Given the description of an element on the screen output the (x, y) to click on. 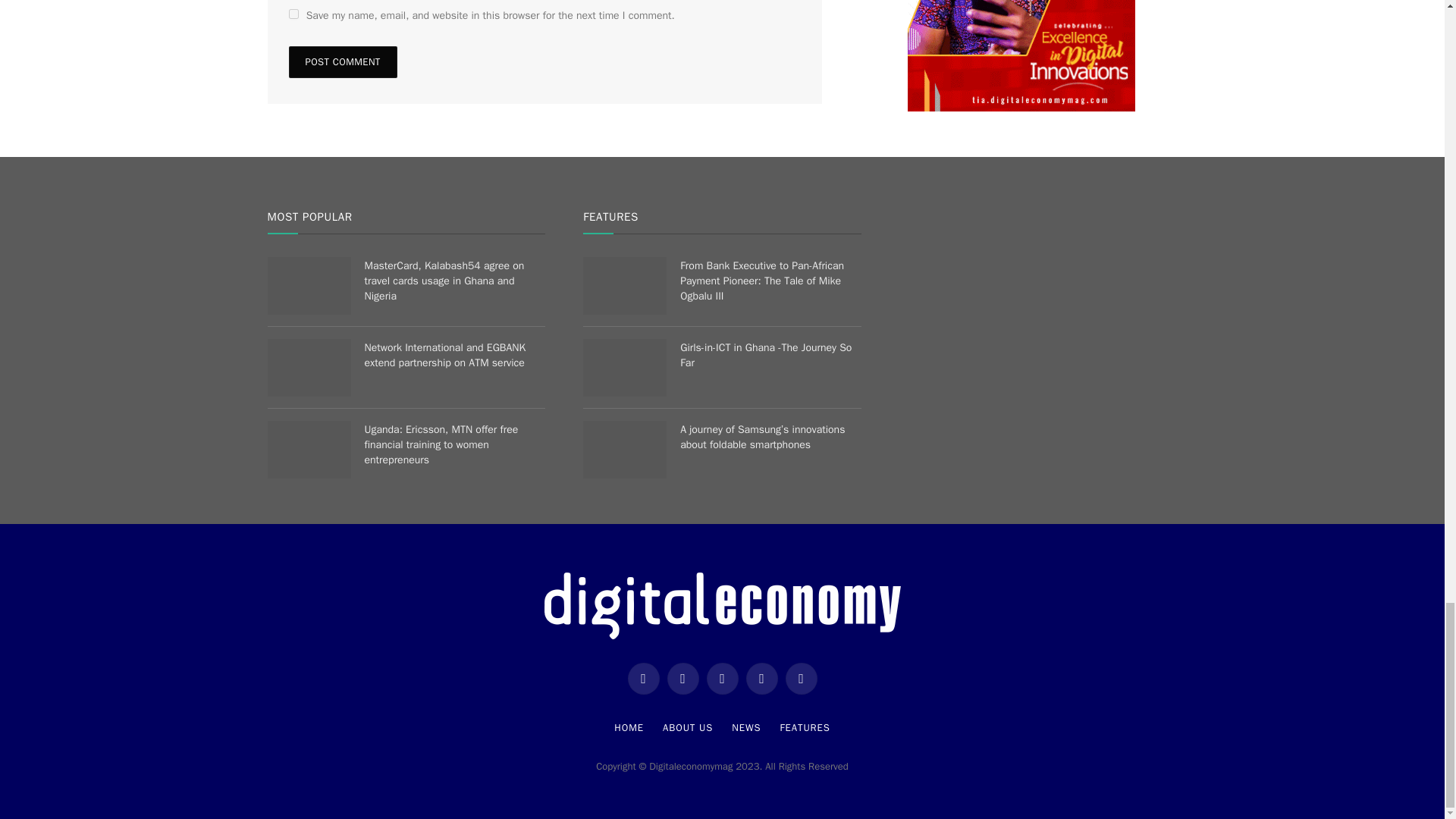
Post Comment (342, 61)
yes (293, 13)
